Given the description of an element on the screen output the (x, y) to click on. 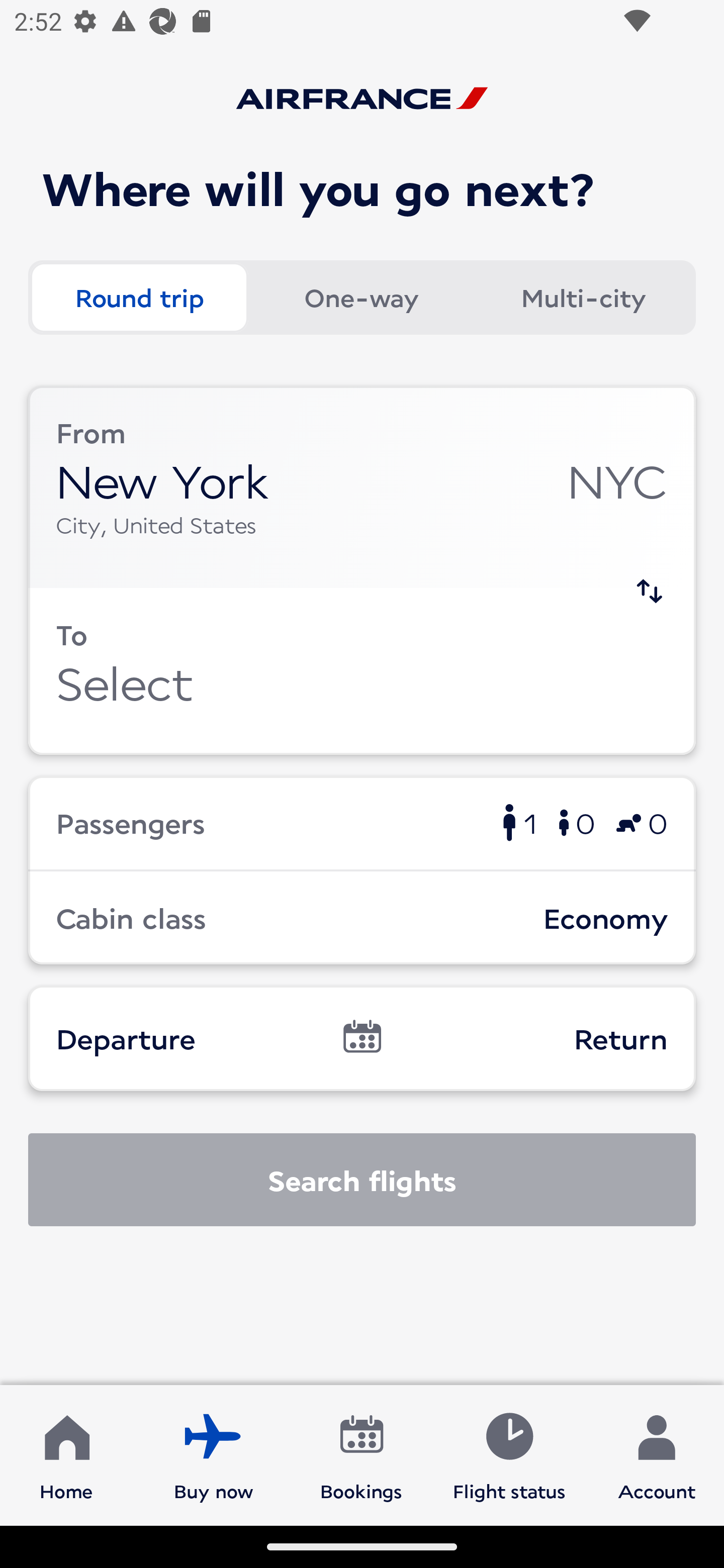
Round trip (139, 297)
One-way (361, 297)
Multi-city (583, 297)
From New York NYC City, United States (361, 486)
To Select (361, 671)
Passengers 1 0 0 (361, 822)
Cabin class Economy (361, 917)
Departure Return (361, 1038)
Search flights (361, 1179)
Home (66, 1454)
Bookings (361, 1454)
Flight status (509, 1454)
Account (657, 1454)
